Given the description of an element on the screen output the (x, y) to click on. 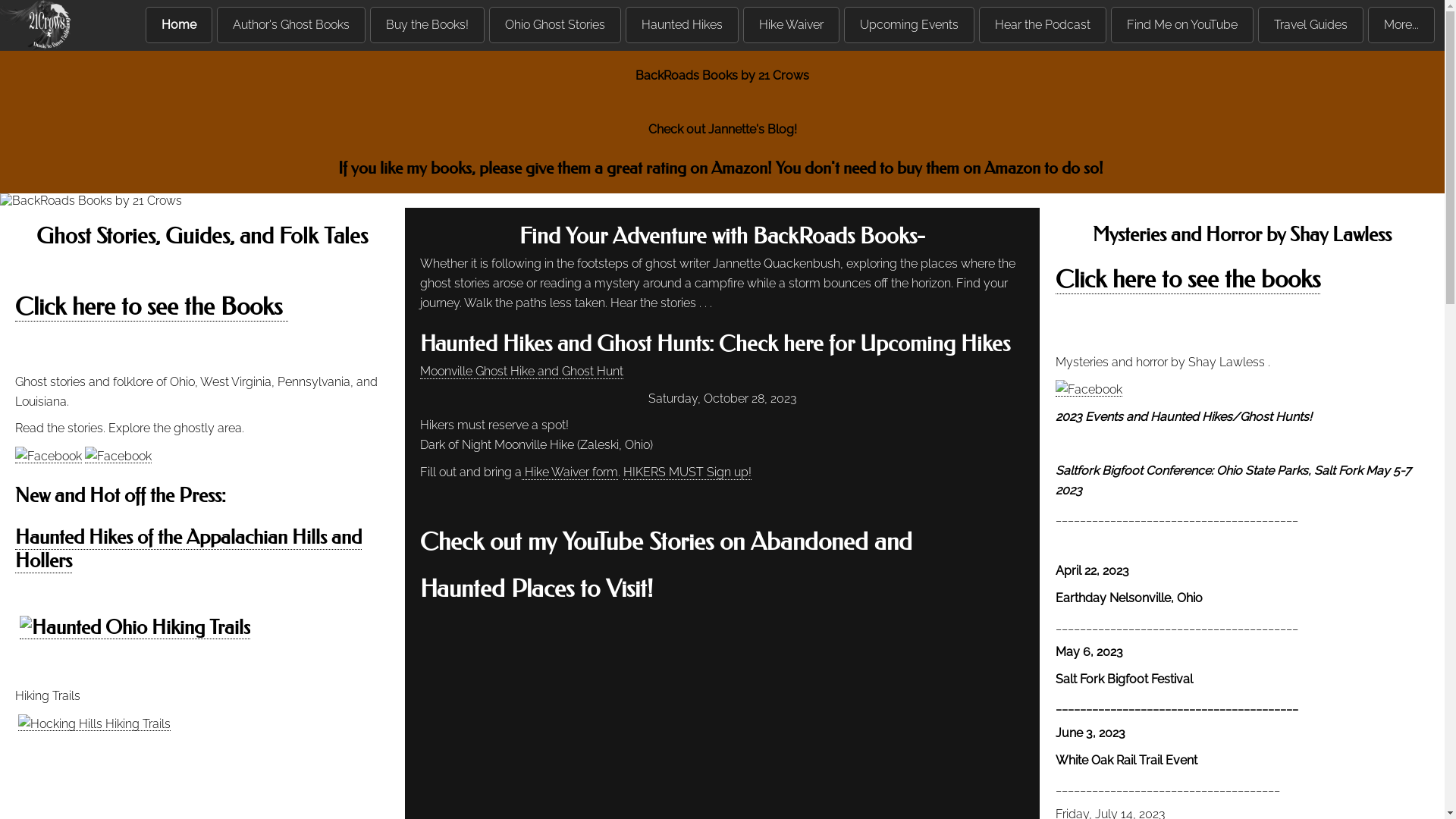
Haunted Hikes Element type: text (681, 24)
Ohio Ghost Stories Element type: text (555, 24)
Click here to see the books Element type: text (1187, 279)
Upcoming Events Element type: text (909, 24)
Find Me on YouTube Element type: text (1181, 24)
Travel Guides Element type: text (1310, 24)
Buy the Books! Element type: text (427, 24)
Home Element type: text (178, 24)
More... Element type: text (1401, 24)
Moonville Ghost Hike and Ghost Hunt Element type: text (521, 371)
Haunted Hikes of the Element type: text (100, 537)
Hear the Podcast Element type: text (1042, 24)
Appalachian Hills and Hollers Element type: text (188, 549)
Author's Ghost Books Element type: text (290, 24)
Click here to see the Books  Element type: text (151, 306)
HIKERS MUST Sign up! Element type: text (687, 472)
Hike Waiver Element type: text (791, 24)
 Hike Waiver form Element type: text (569, 472)
